Given the description of an element on the screen output the (x, y) to click on. 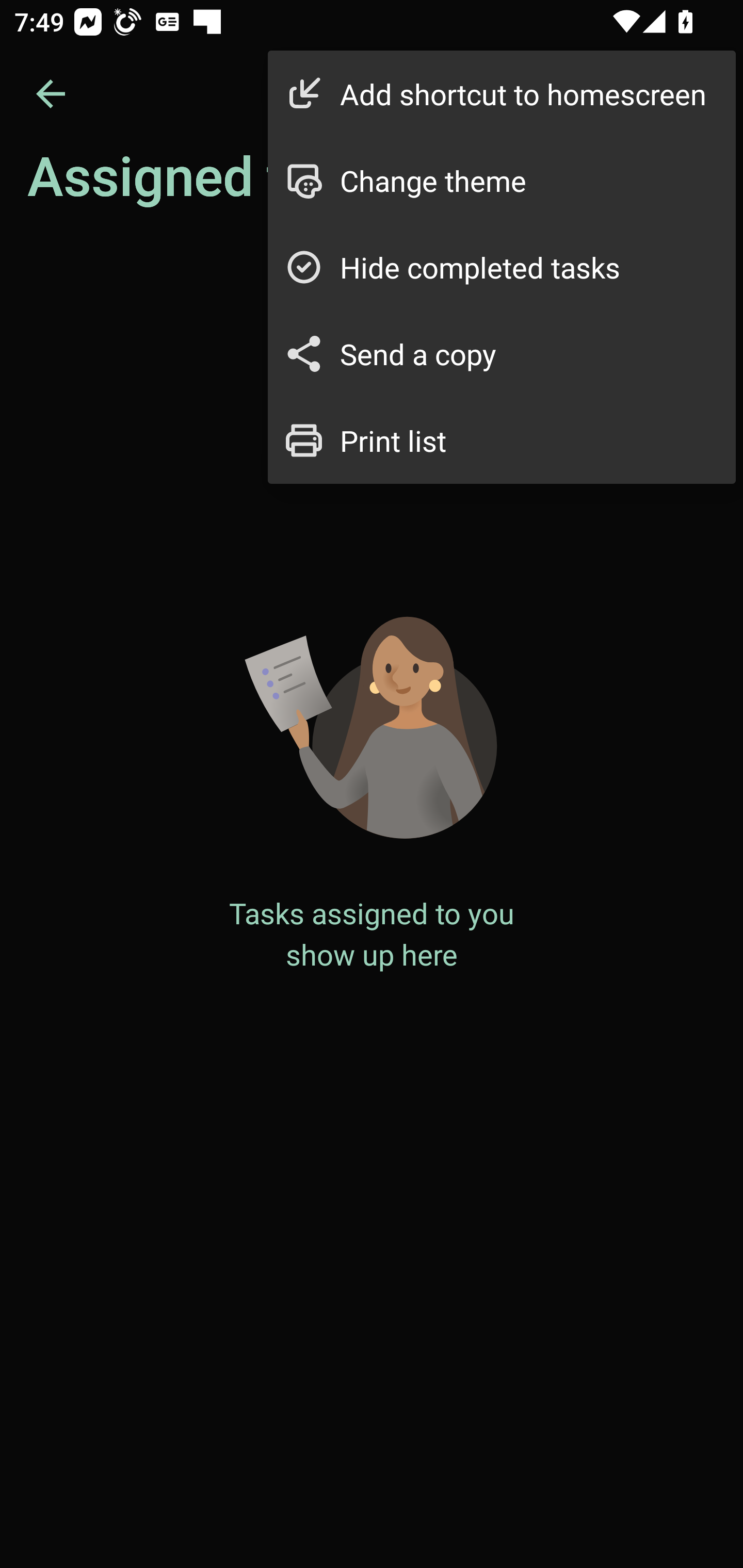
Change theme2 in 5 Change theme (501, 180)
Hide completed tasks3 in 5 Hide completed tasks (501, 267)
Send a copy4 in 5 Send a copy (501, 353)
Print list5 in 5 Print list (501, 440)
